Given the description of an element on the screen output the (x, y) to click on. 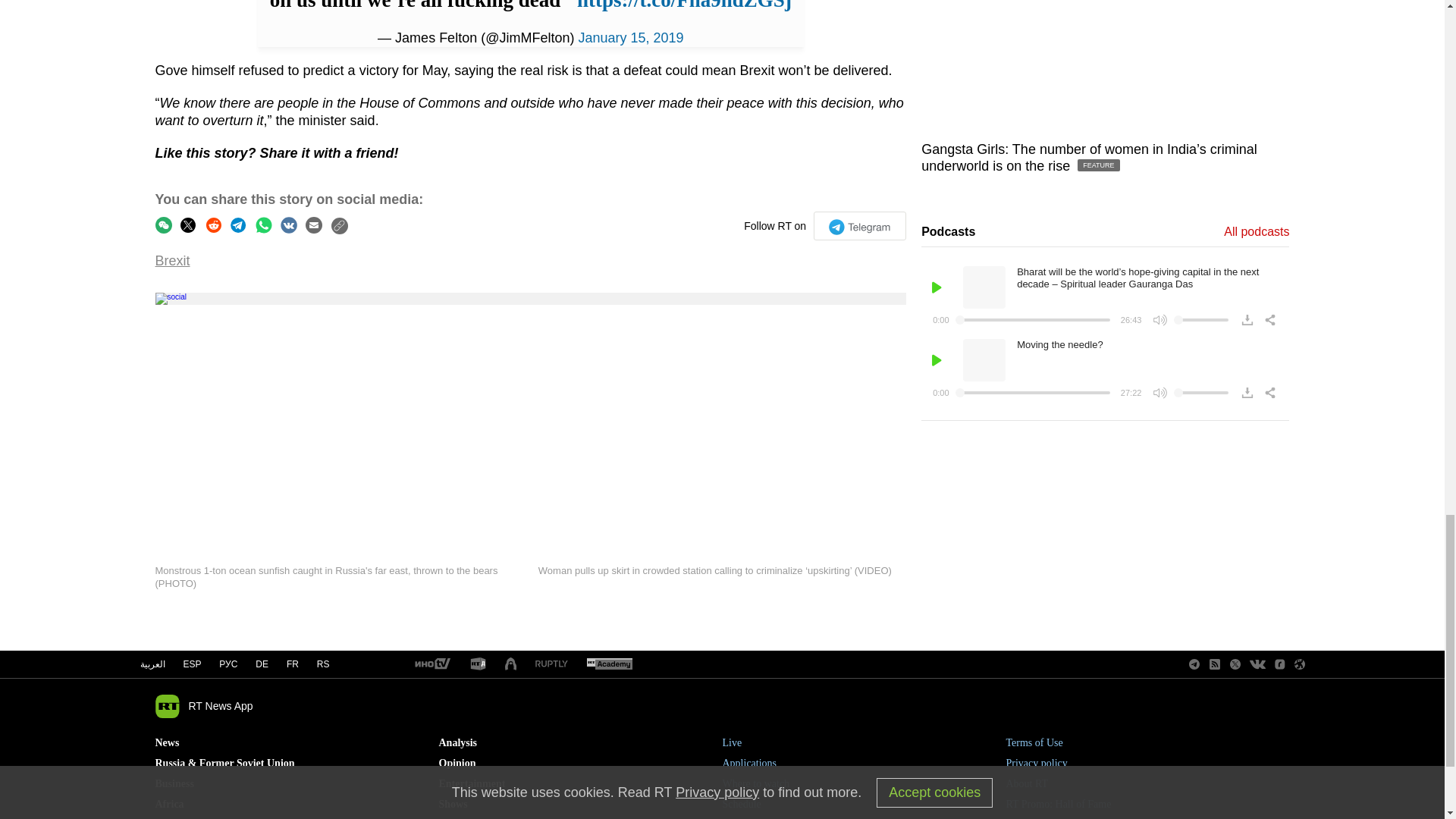
RT  (431, 664)
RT  (608, 664)
RT  (478, 664)
RT  (551, 664)
